Given the description of an element on the screen output the (x, y) to click on. 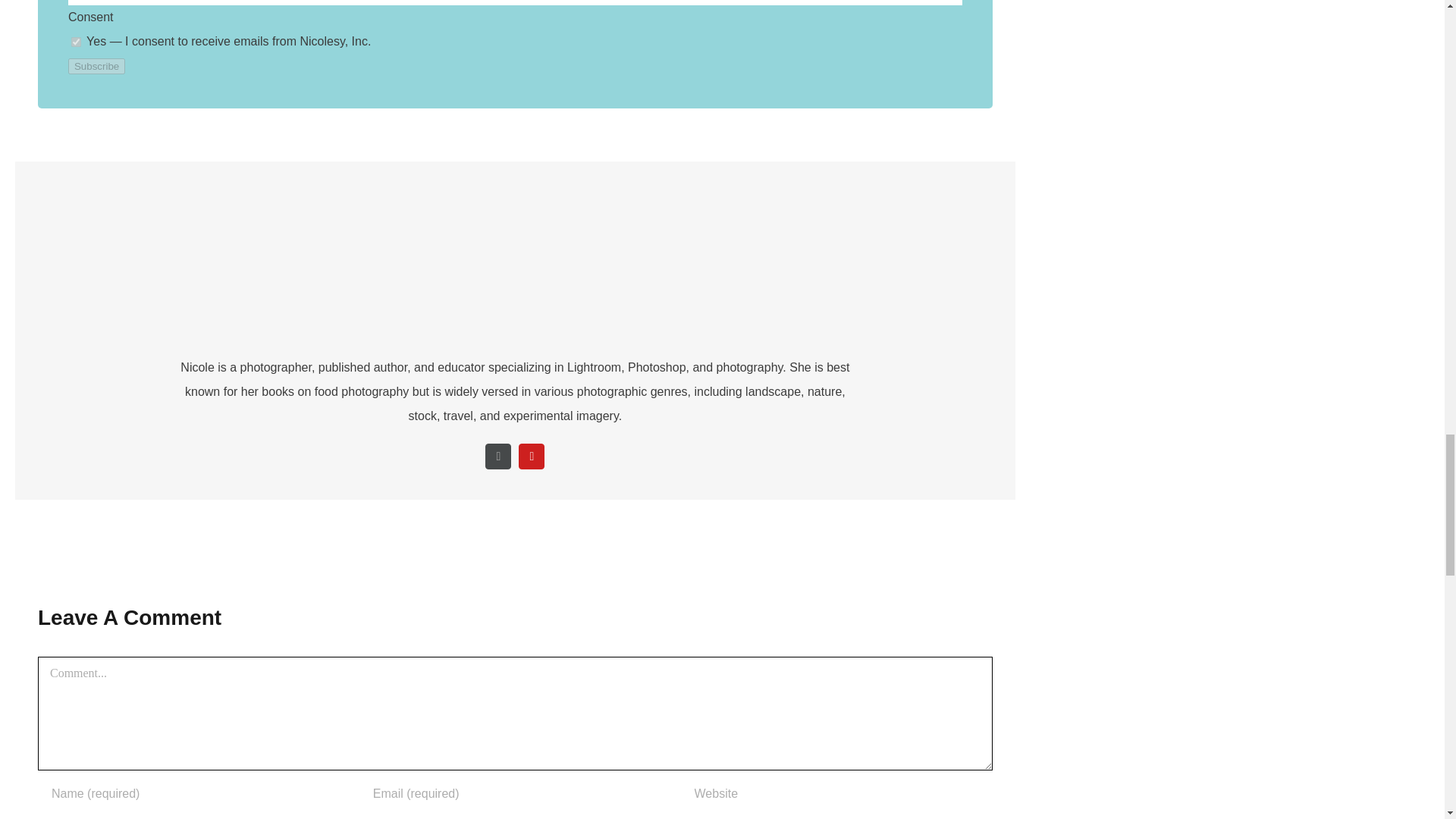
Contact (497, 455)
YouTube (531, 455)
